Given the description of an element on the screen output the (x, y) to click on. 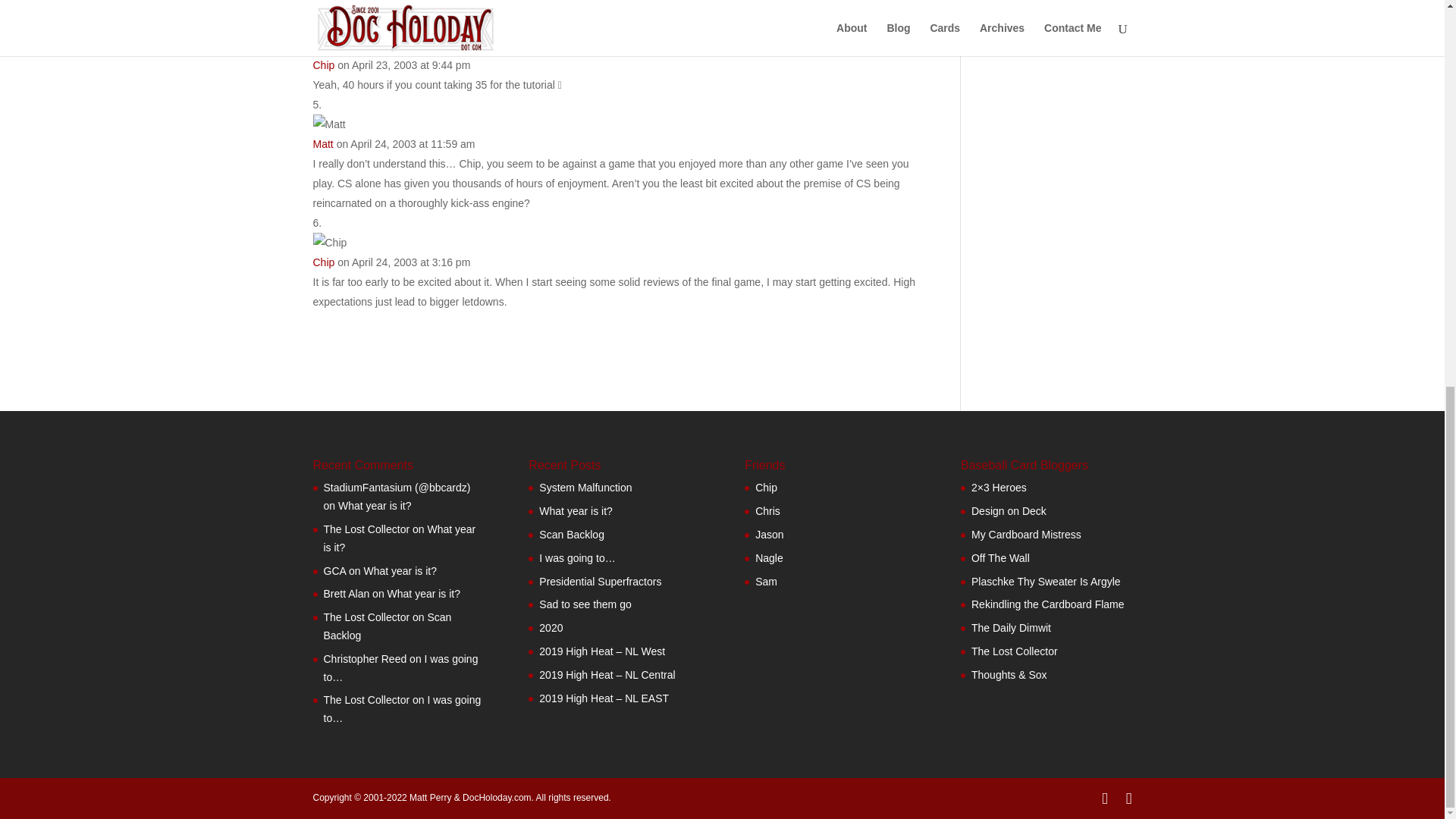
Chip (323, 262)
The Daily Dimwit (766, 581)
Chip (323, 64)
What year is it? (373, 505)
Matt (323, 143)
What year is it? (399, 538)
